Given the description of an element on the screen output the (x, y) to click on. 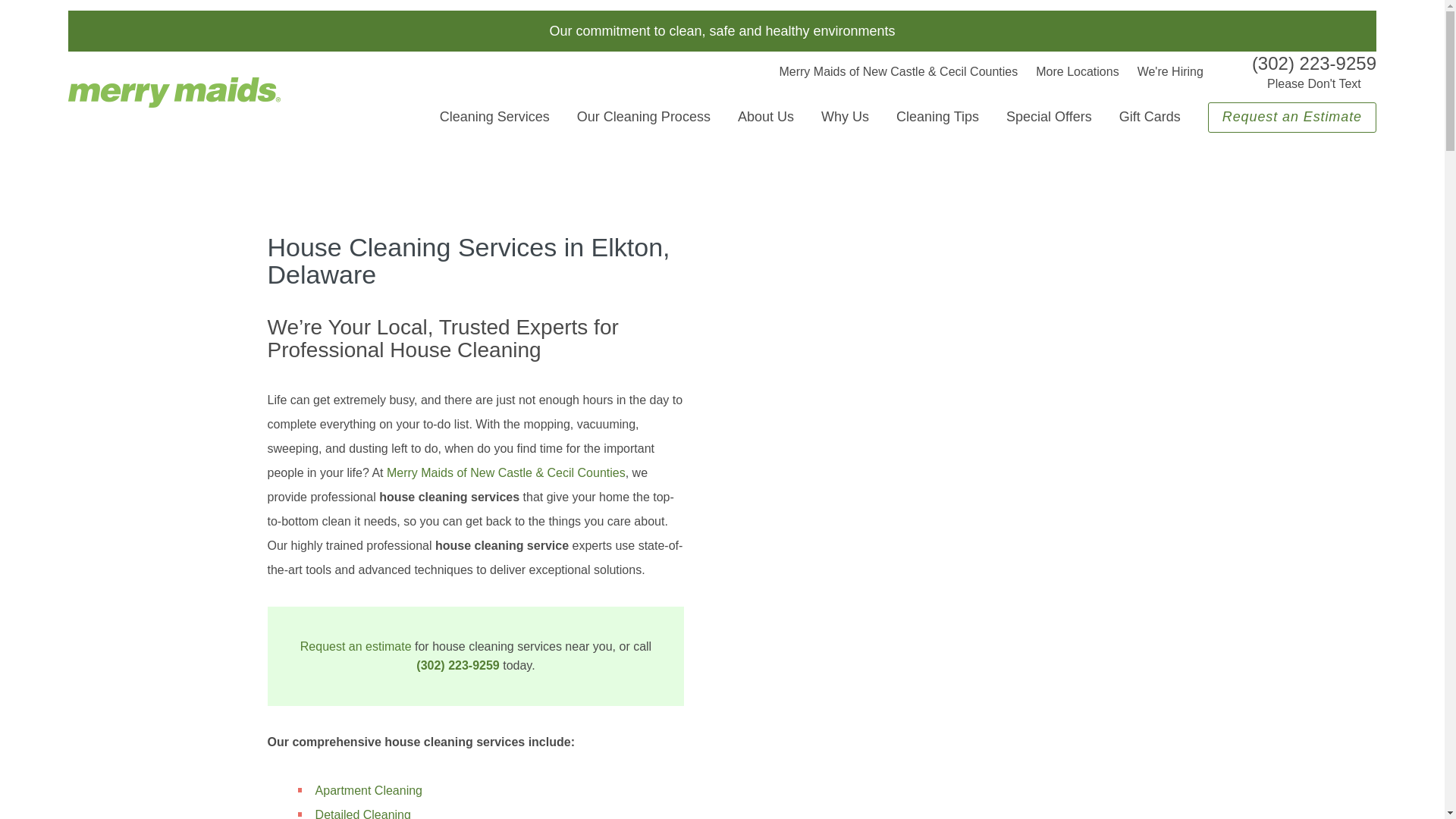
We're Hiring (1170, 71)
View Next Item (1196, 575)
More Locations (1076, 71)
About Us (765, 117)
View Previous Item (739, 575)
Cleaning Services (494, 117)
Our Cleaning Process (643, 117)
Why Us (845, 117)
Our commitment to clean, safe and healthy environments (721, 30)
Merry Maids (174, 91)
